Given the description of an element on the screen output the (x, y) to click on. 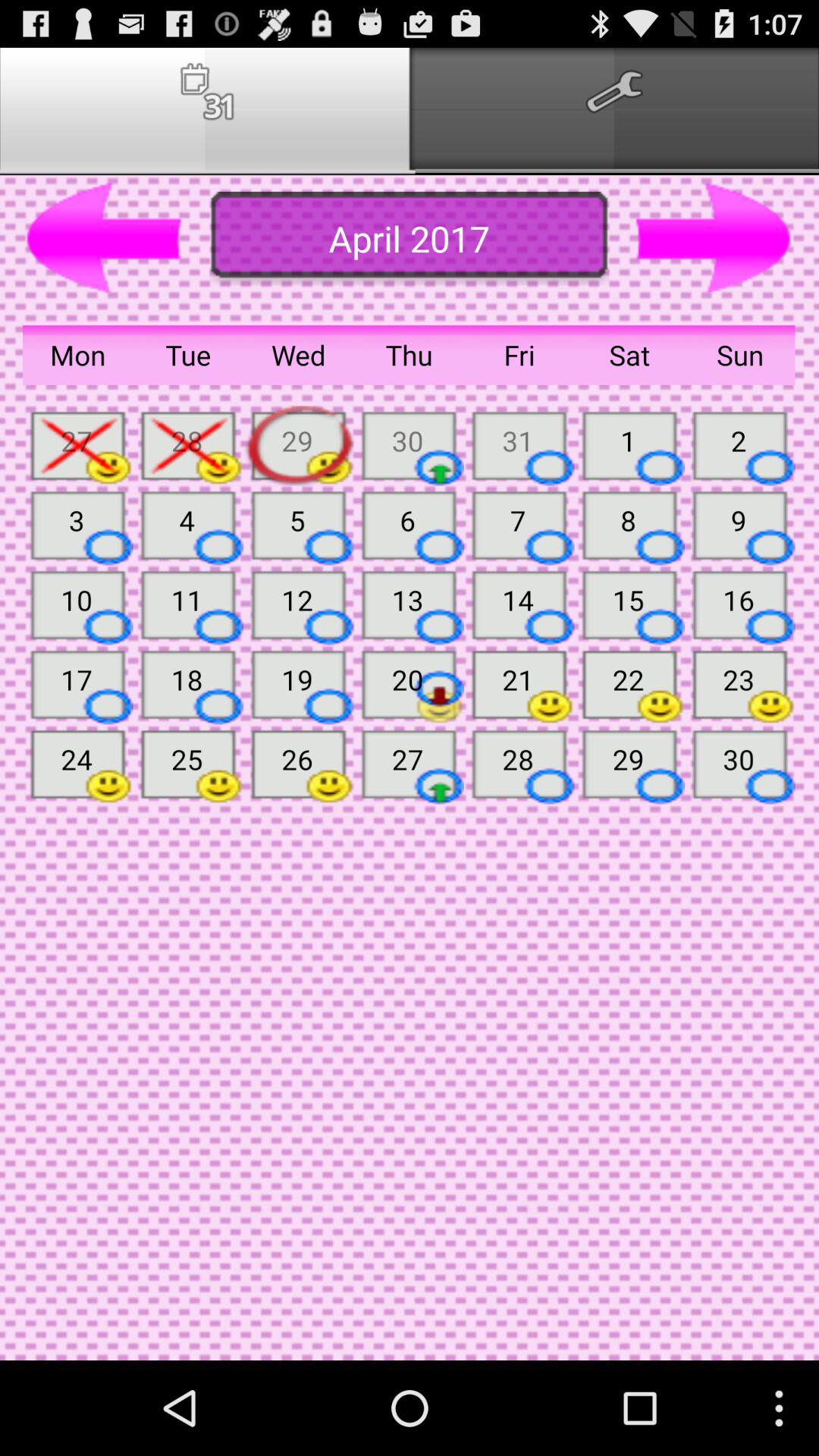
preview button (104, 238)
